Given the description of an element on the screen output the (x, y) to click on. 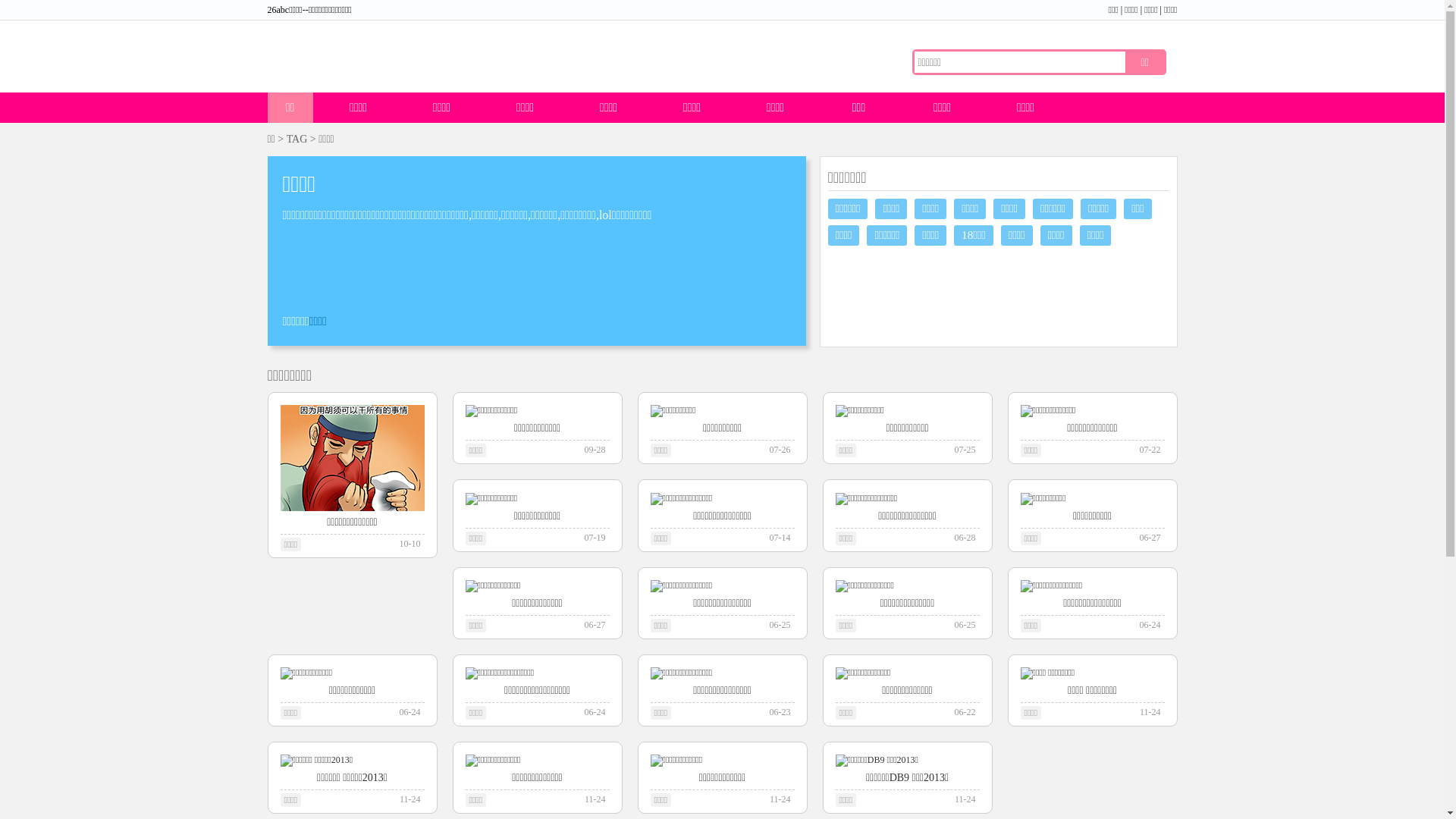
TAG Element type: text (296, 138)
